Given the description of an element on the screen output the (x, y) to click on. 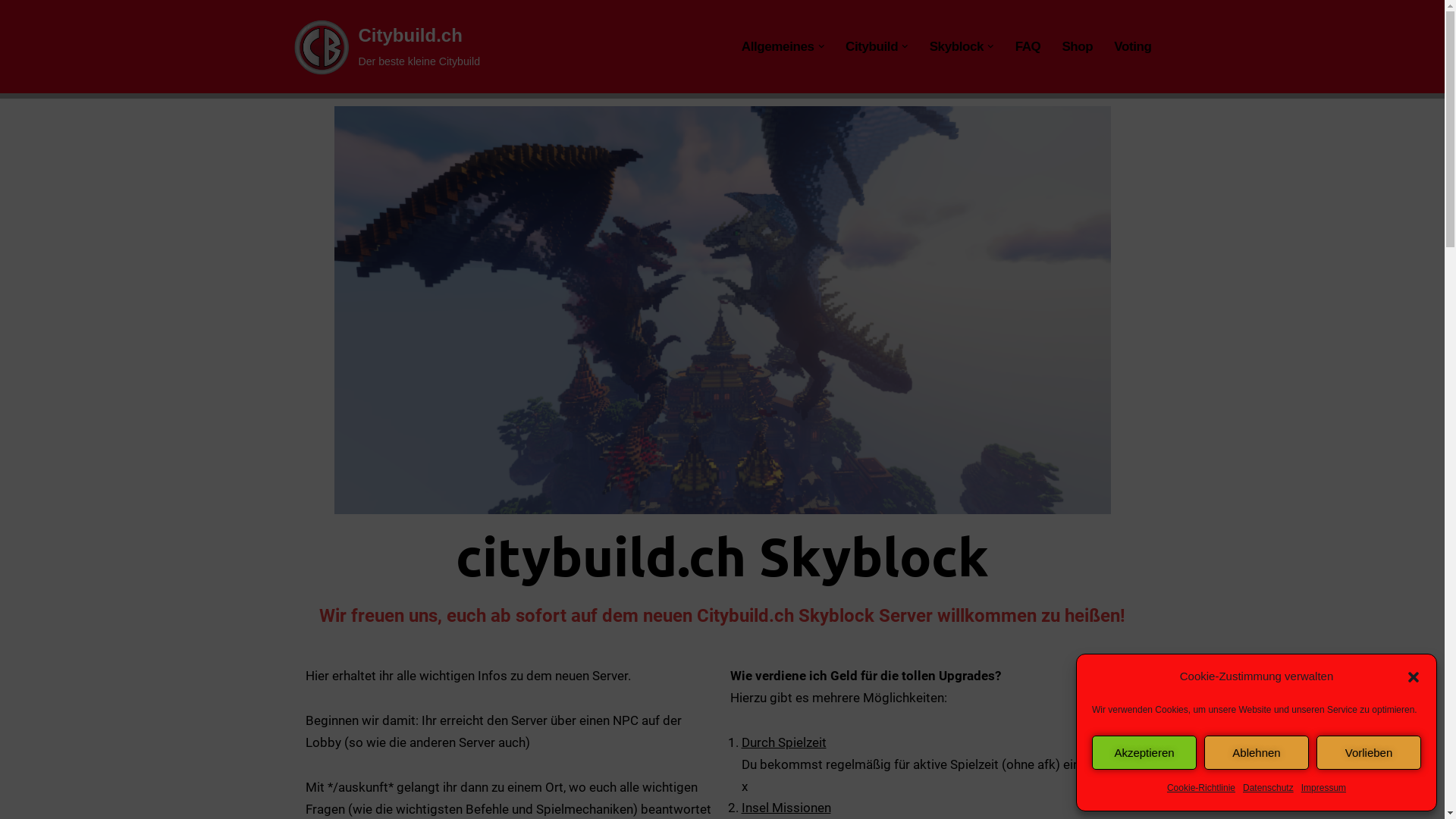
Akzeptieren Element type: text (1144, 752)
Impressum Element type: text (1323, 788)
Shop Element type: text (1076, 45)
Citybuild.ch
Der beste kleine Citybuild Element type: text (384, 46)
Allgemeines Element type: text (777, 45)
Skyblock Element type: text (956, 45)
Citybuild Element type: text (871, 45)
Ablehnen Element type: text (1256, 752)
Cookie-Richtlinie Element type: text (1201, 788)
Datenschutz Element type: text (1267, 788)
FAQ Element type: text (1028, 45)
Zum Inhalt springen Element type: text (11, 31)
Voting Element type: text (1132, 45)
Vorlieben Element type: text (1368, 752)
